Given the description of an element on the screen output the (x, y) to click on. 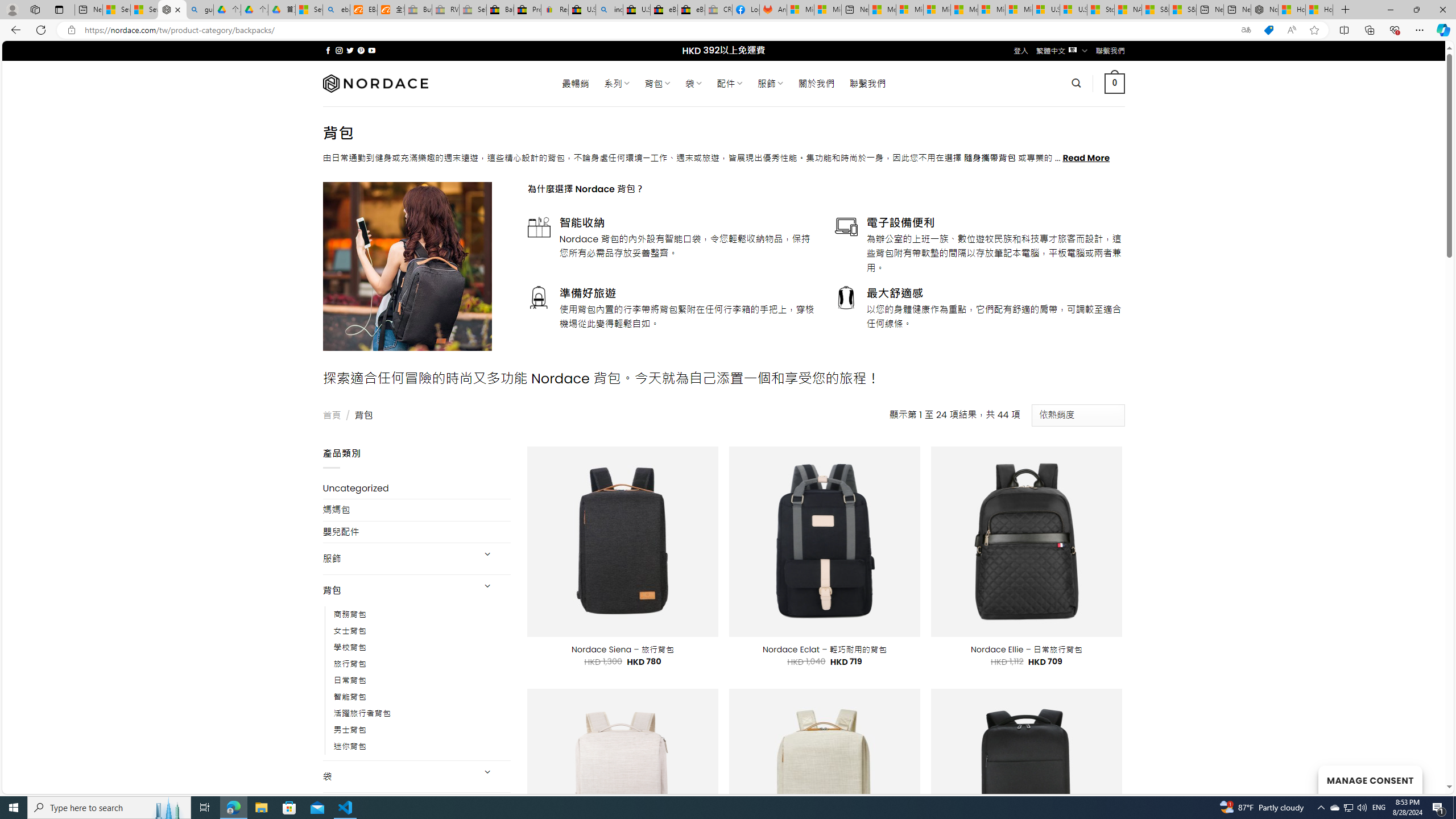
Register: Create a personal eBay account (554, 9)
including - Search (609, 9)
Log into Facebook (746, 9)
